Given the description of an element on the screen output the (x, y) to click on. 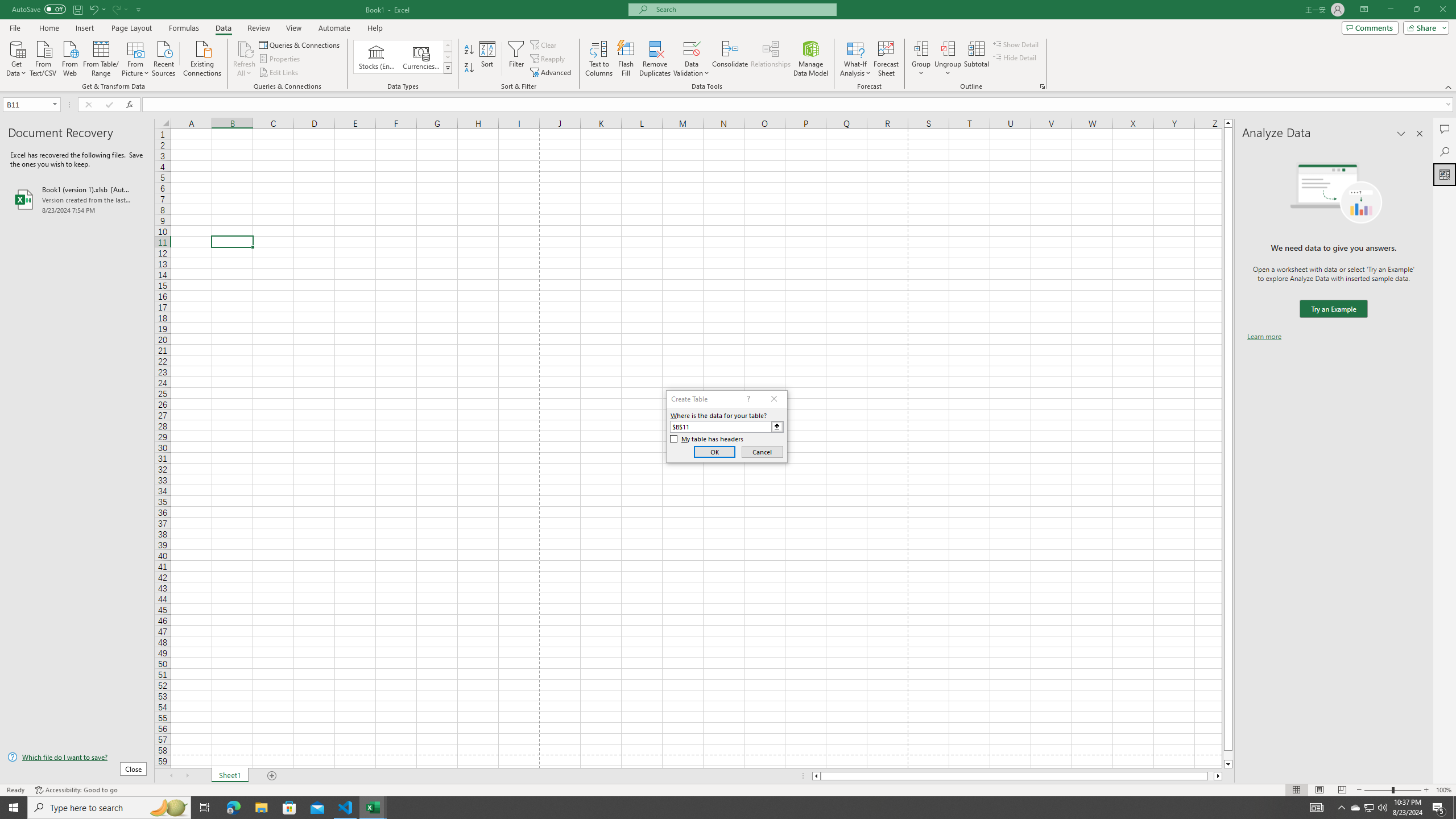
Row up (448, 45)
Hide Detail (1014, 56)
From Table/Range (100, 57)
Group and Outline Settings (1042, 85)
Text to Columns... (598, 58)
From Picture (135, 57)
Advanced... (551, 72)
